Given the description of an element on the screen output the (x, y) to click on. 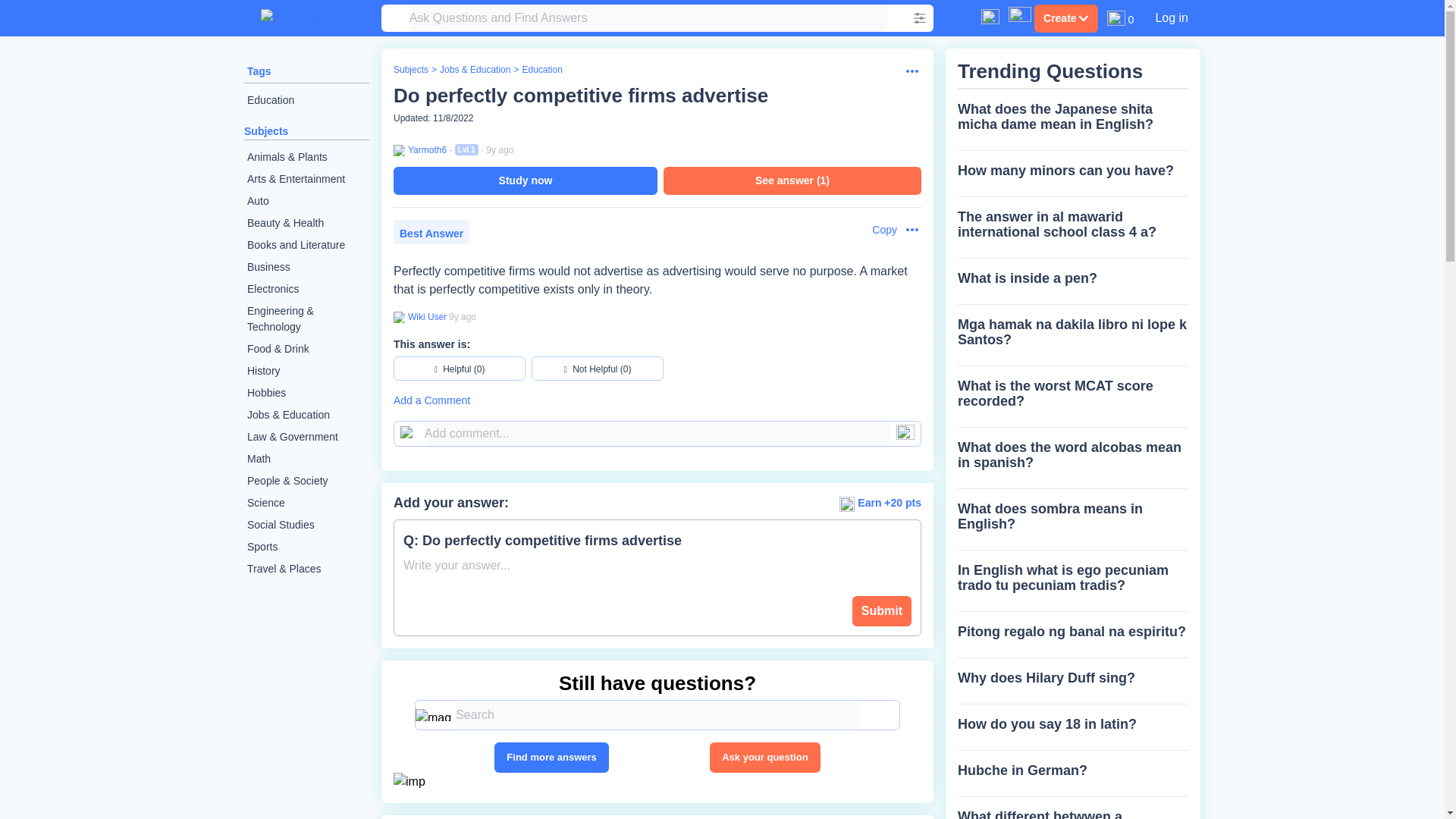
Books and Literature (306, 245)
Tags (258, 70)
Wiki User (425, 316)
Subjects (266, 131)
Create (1065, 18)
Science (306, 503)
Subjects (410, 69)
Electronics (306, 289)
Do perfectly competitive firms advertise (580, 95)
Education (541, 69)
